Given the description of an element on the screen output the (x, y) to click on. 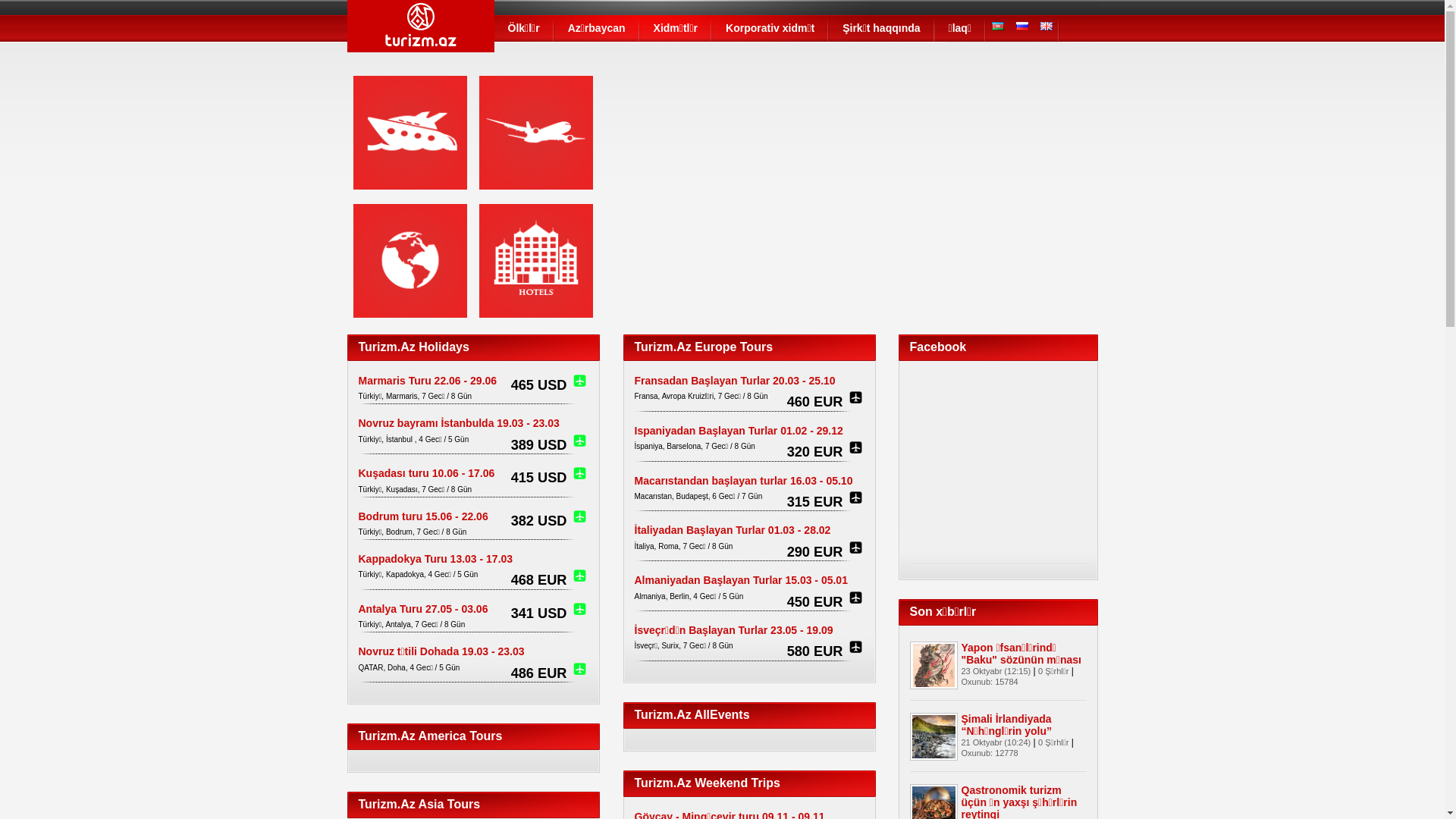
Kappadokya Turu 13.03 - 17.03 Element type: text (434, 558)
Bodrum turu 15.06 - 22.06 Element type: text (422, 516)
Turizm.Az Element type: text (420, 32)
Antalya Turu 27.05 - 03.06 Element type: text (422, 608)
Marmaris Turu 22.06 - 29.06 Element type: text (426, 380)
